Given the description of an element on the screen output the (x, y) to click on. 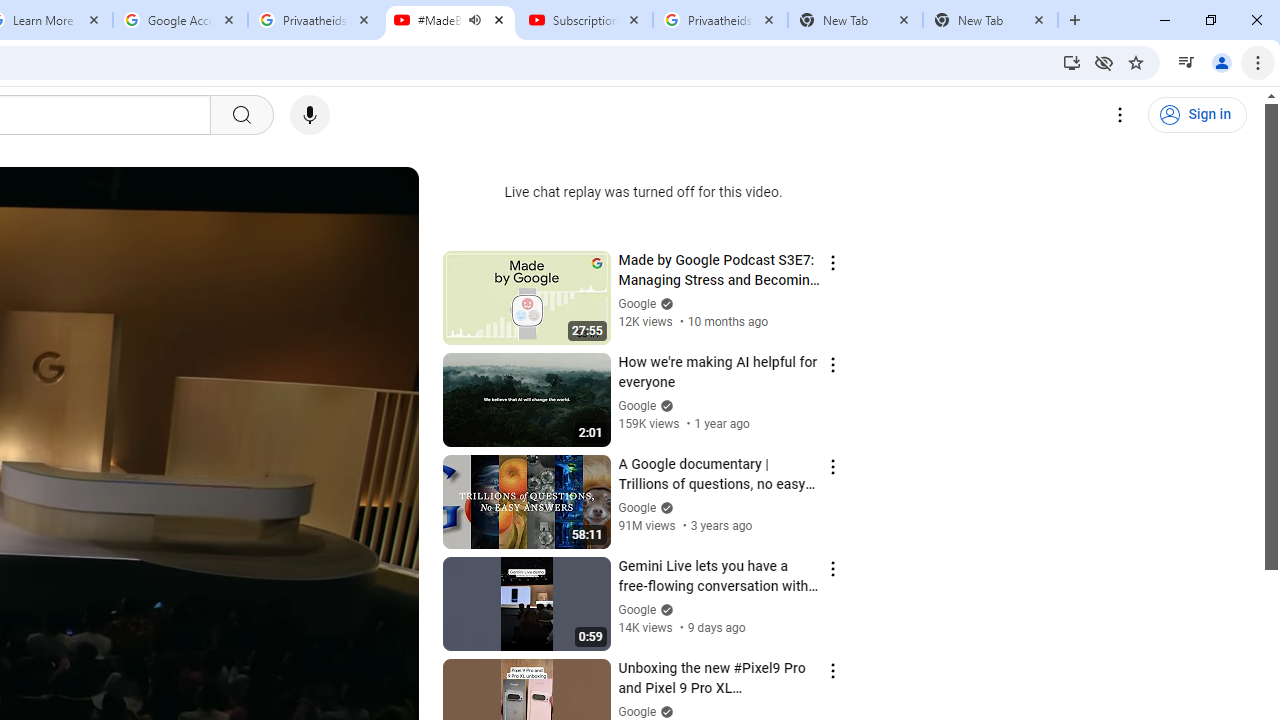
Action menu (832, 670)
Mute tab (474, 20)
Search (240, 115)
Settings (1119, 115)
Search with your voice (309, 115)
Verified (664, 711)
Install YouTube (1071, 62)
